Given the description of an element on the screen output the (x, y) to click on. 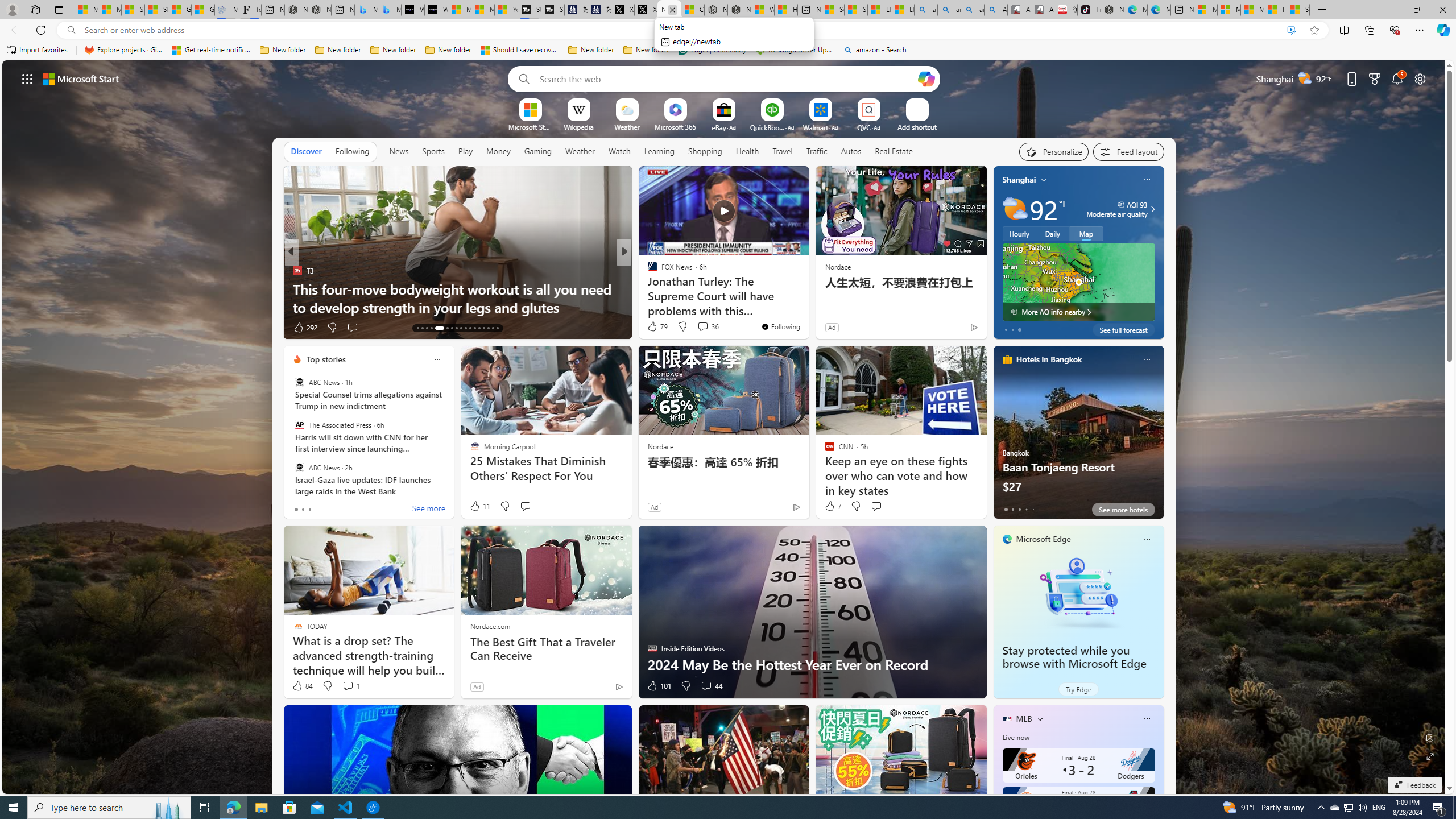
Discover (306, 151)
View comments 8 Comment (702, 327)
Weather (579, 151)
317 Like (654, 327)
Live Science (647, 270)
Hotels in Bangkok (1048, 359)
Gilma and Hector both pose tropical trouble for Hawaii (202, 9)
Descarga Driver Updater (794, 49)
Refresh (40, 29)
Map (1085, 233)
Streaming Coverage | T3 (529, 9)
New Tab (1322, 9)
